Given the description of an element on the screen output the (x, y) to click on. 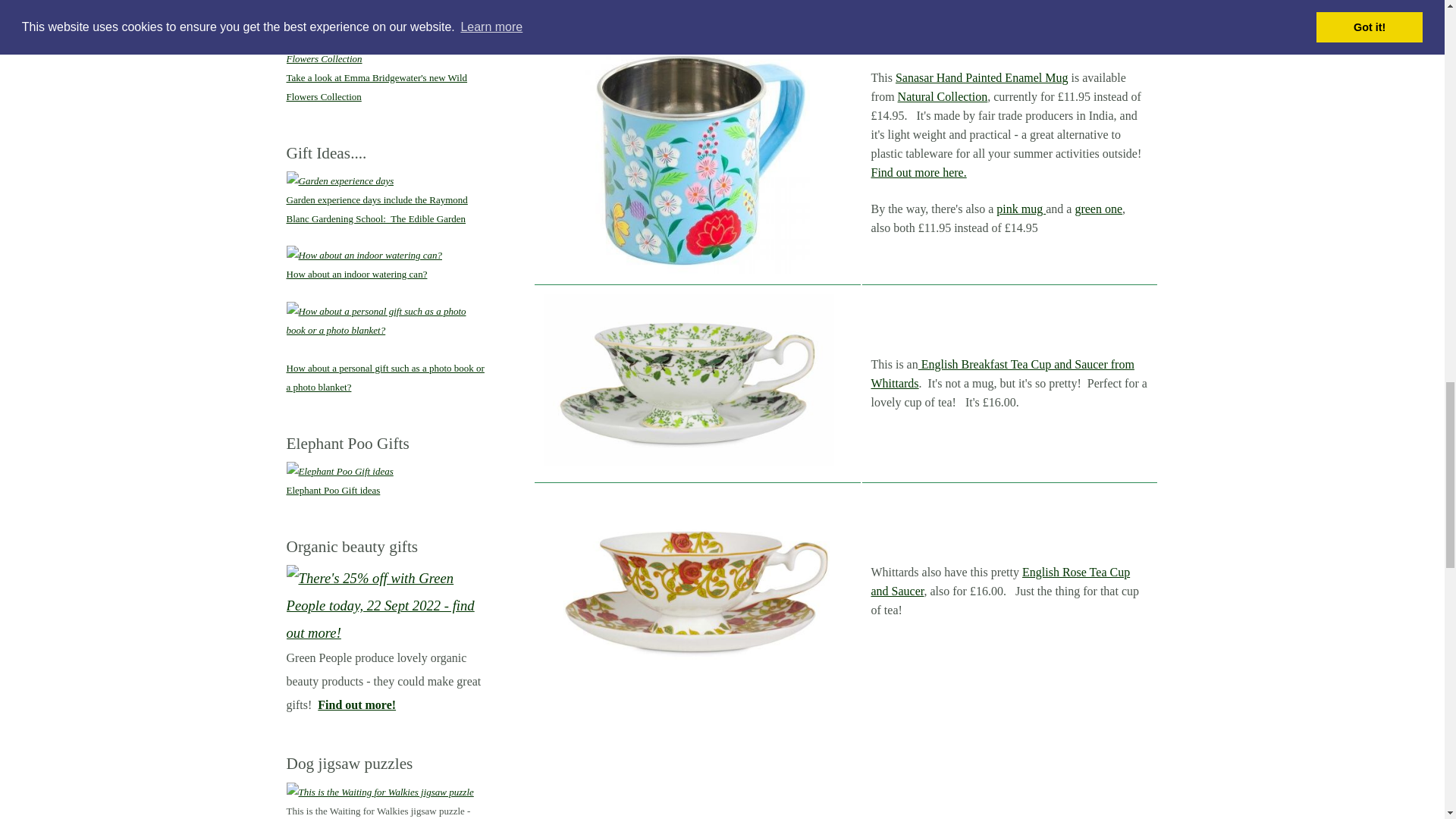
Garden experience days (340, 180)
How about an indoor watering can? (364, 254)
This Lemon Grove Breakfast Mug is available from Prezzybox (697, 14)
Elephant Poo Gift ideas (339, 470)
This is the Waiting for Walkies jigsaw puzzle (380, 791)
